Given the description of an element on the screen output the (x, y) to click on. 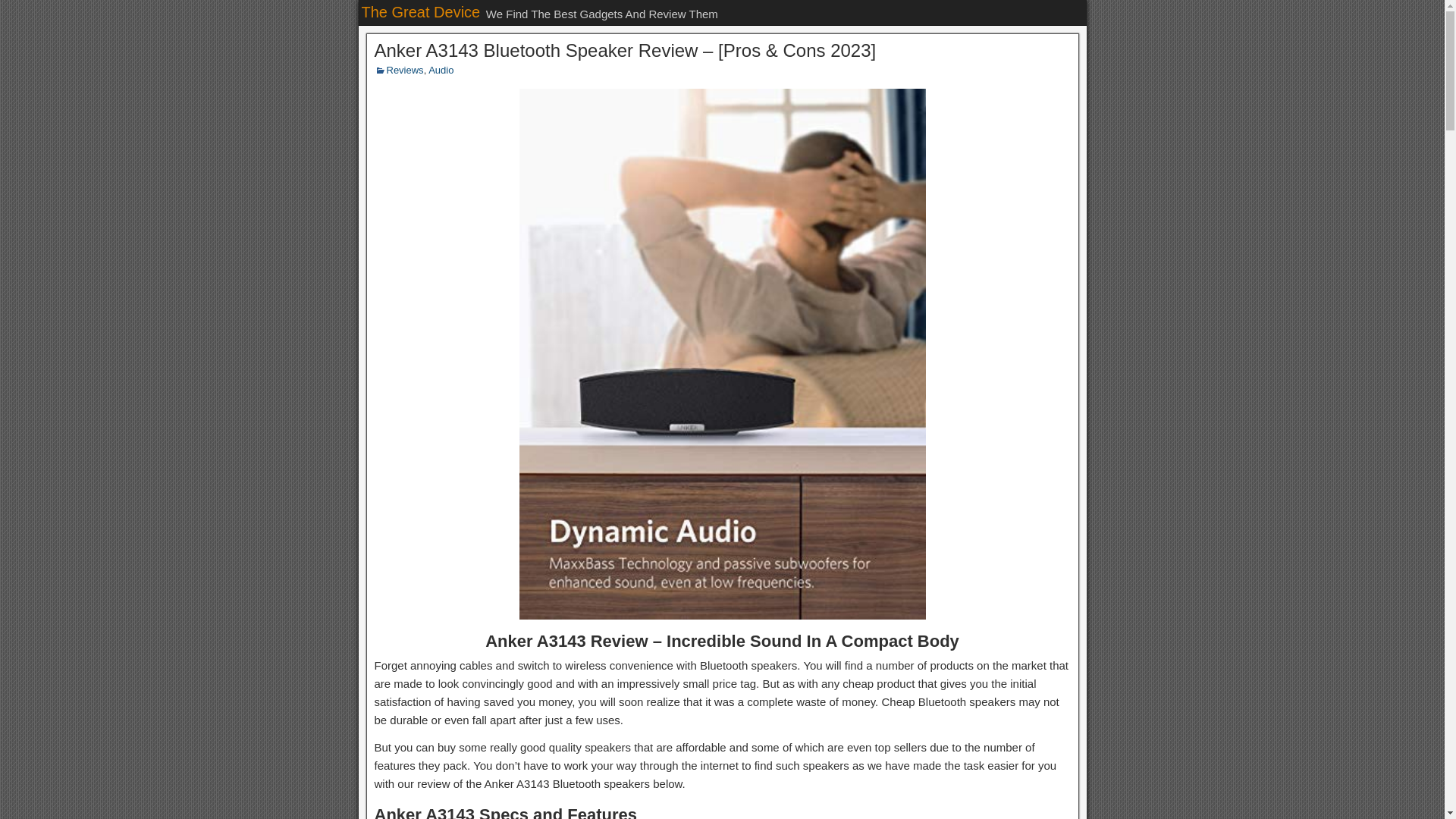
Audio (440, 70)
The Great Device (420, 12)
Reviews (405, 70)
